Given the description of an element on the screen output the (x, y) to click on. 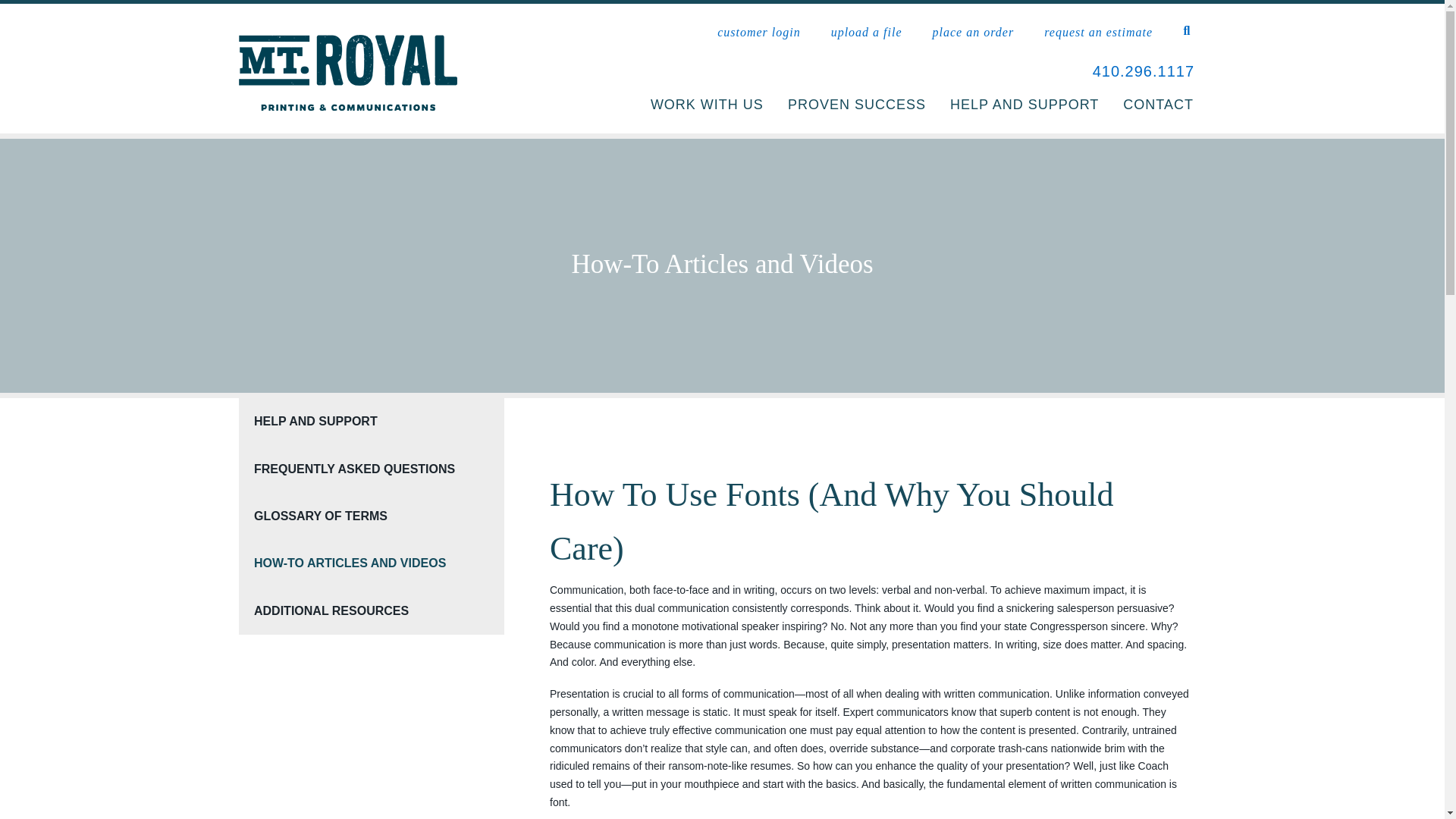
request an estimate (1098, 31)
WORK WITH US (706, 105)
place an order (973, 31)
customer login (758, 31)
upload a file (866, 31)
410.296.1117 (1143, 71)
logo (347, 72)
